Given the description of an element on the screen output the (x, y) to click on. 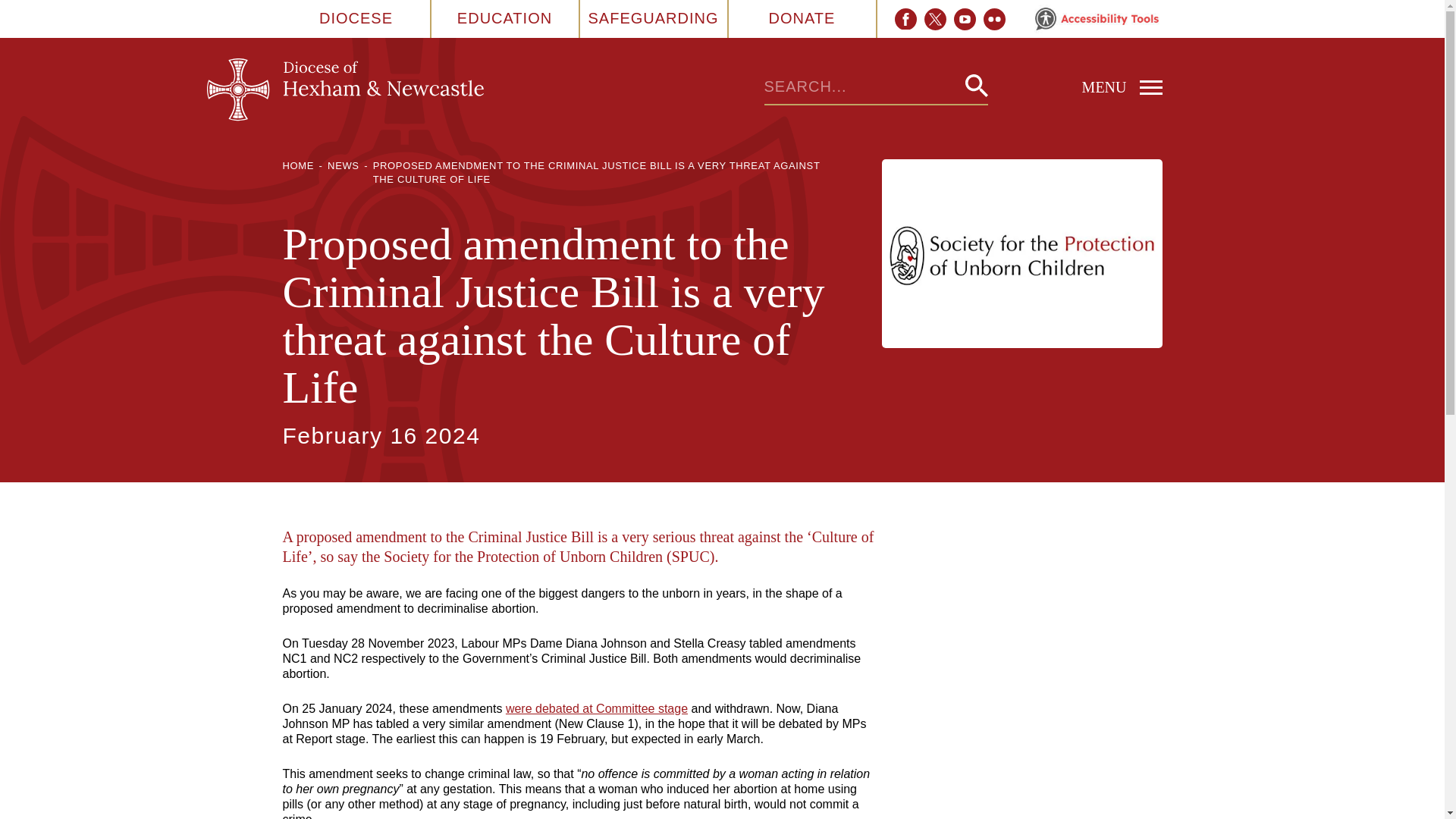
SAFEGUARDING (652, 18)
MENU (1074, 86)
DIOCESE (355, 18)
EDUCATION (504, 18)
Go to News. (343, 165)
DONATE (801, 18)
